Given the description of an element on the screen output the (x, y) to click on. 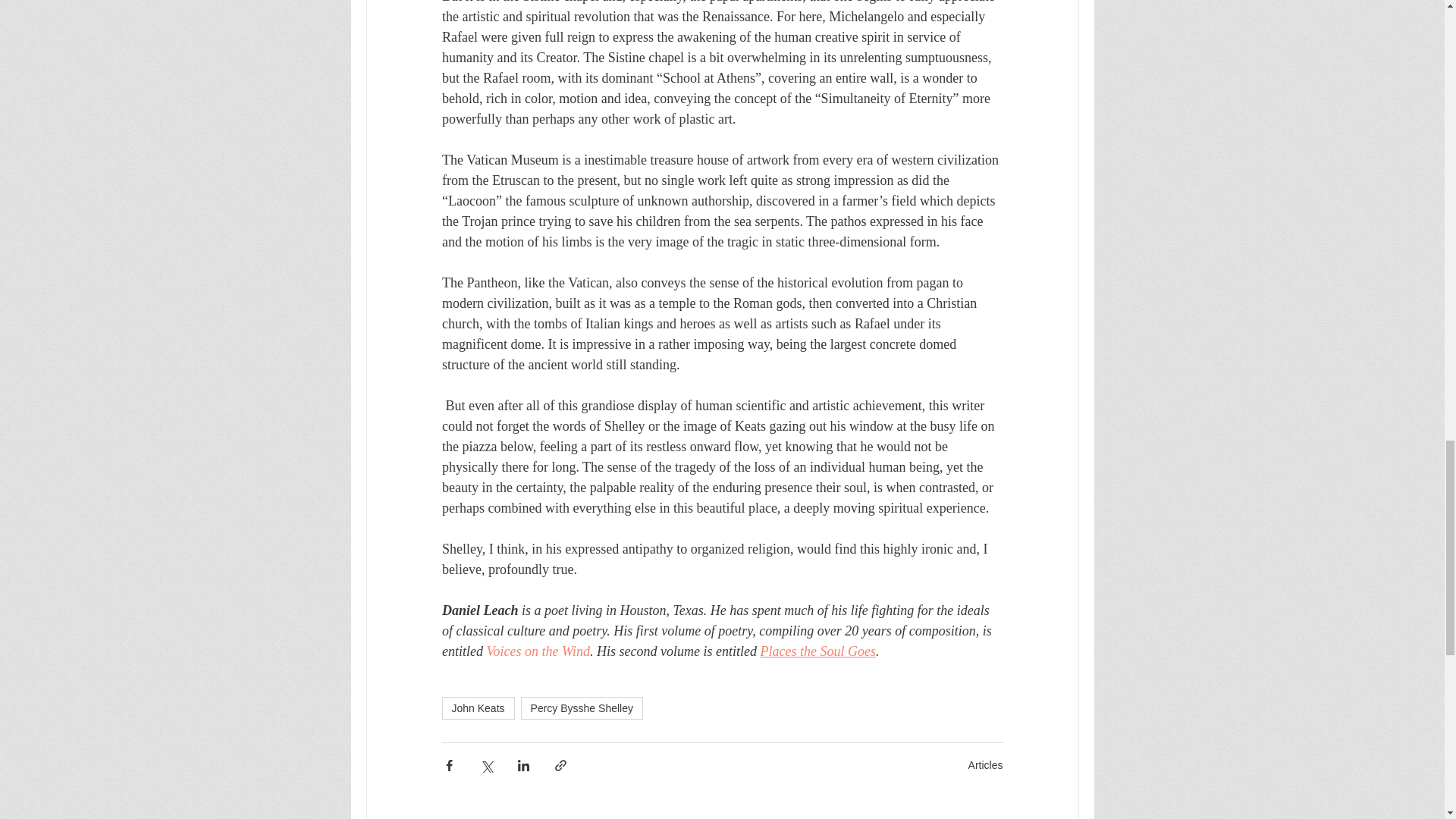
Articles (985, 765)
Percy Bysshe Shelley (582, 707)
Places the Soul Goes (817, 651)
Voices on the Wind (537, 651)
John Keats (477, 707)
